Given the description of an element on the screen output the (x, y) to click on. 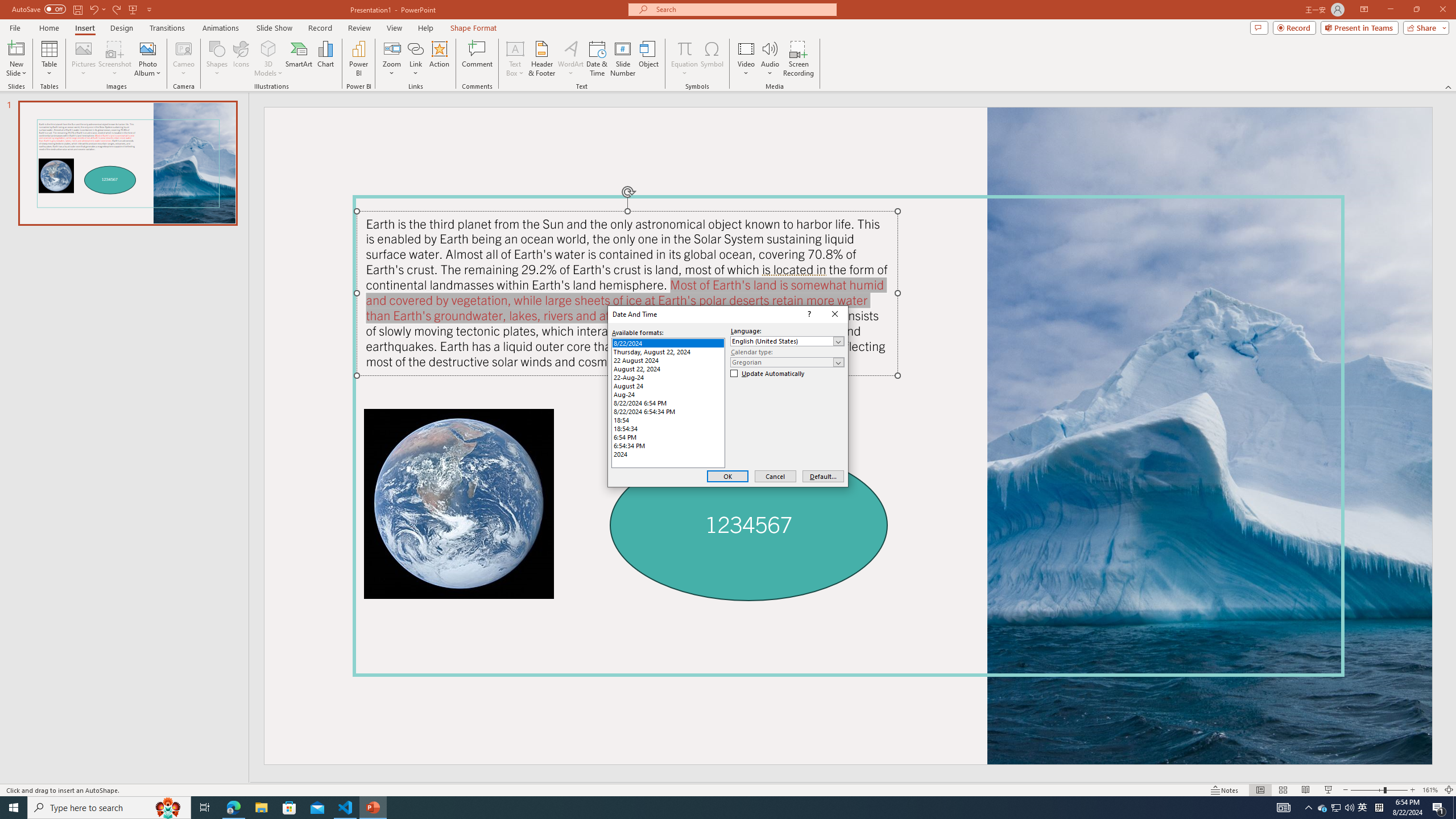
Update Automatically (767, 373)
